Given the description of an element on the screen output the (x, y) to click on. 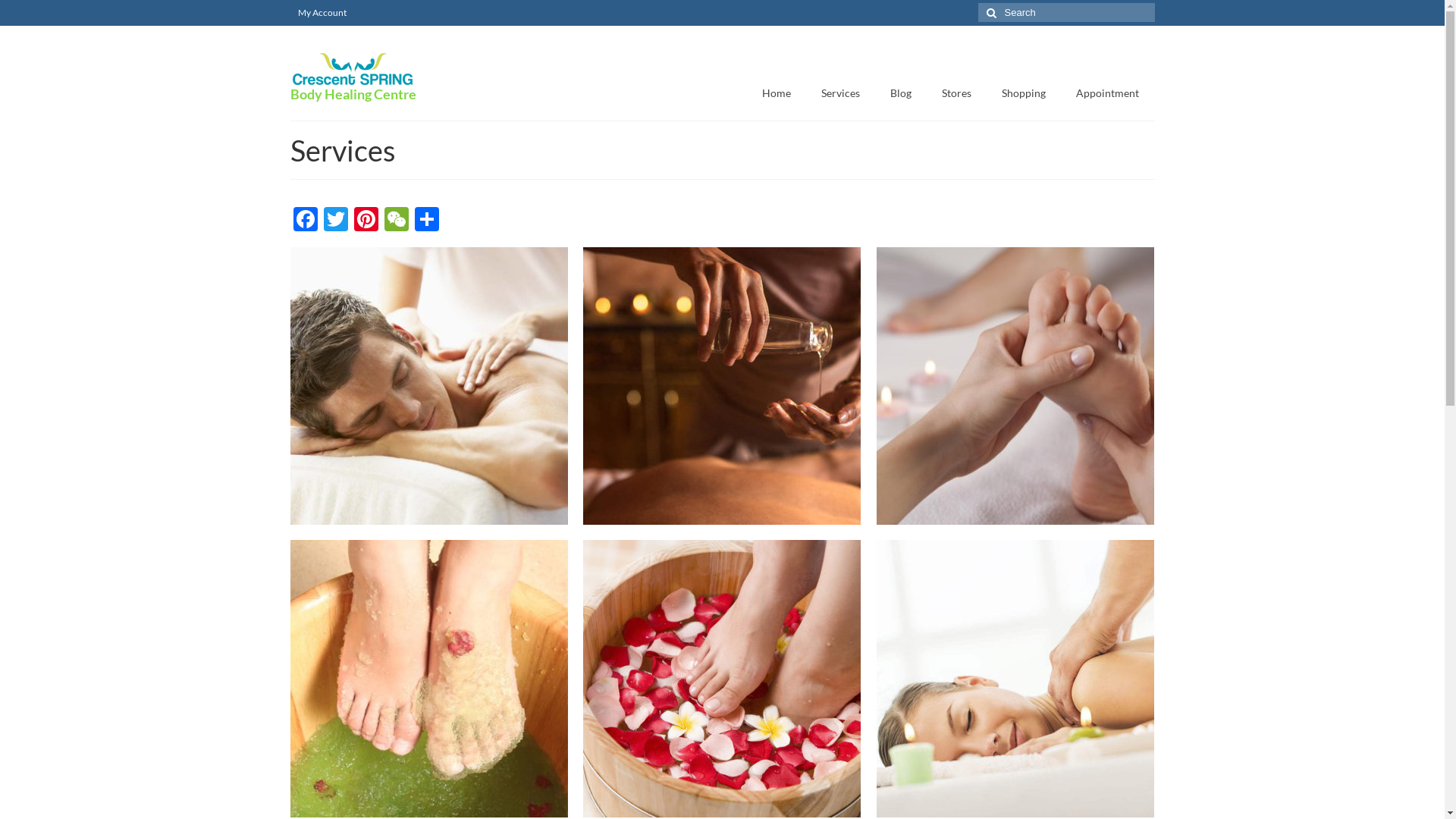
Stores Element type: text (956, 92)
Chinese Oil Massage Element type: hover (721, 385)
Blog Element type: text (900, 92)
Shopping Element type: text (1023, 92)
Pinterest Element type: text (365, 221)
Share Element type: text (426, 221)
Appointment Element type: text (1107, 92)
WeChat Element type: text (395, 221)
Reflexology Element type: hover (1015, 385)
Remedial Massage Element type: hover (428, 385)
Home Element type: text (776, 92)
Ion Spa Element type: hover (721, 678)
Facebook Element type: text (304, 221)
Aromatherapy Element type: hover (1015, 678)
Twitter Element type: text (335, 221)
My Account Element type: text (321, 12)
Jelly Spa Element type: hover (428, 678)
Services Element type: text (840, 92)
